Given the description of an element on the screen output the (x, y) to click on. 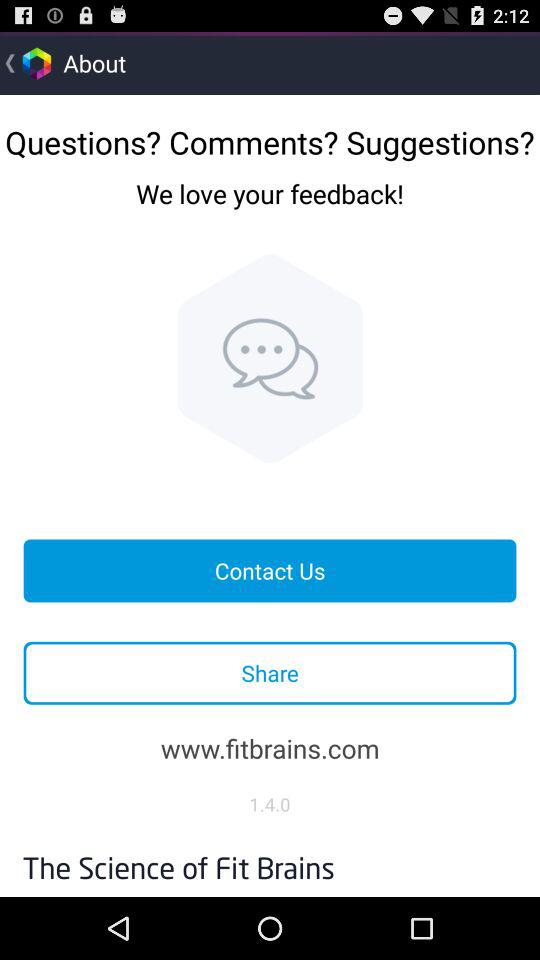
turn on item below www.fitbrains.com icon (270, 803)
